Given the description of an element on the screen output the (x, y) to click on. 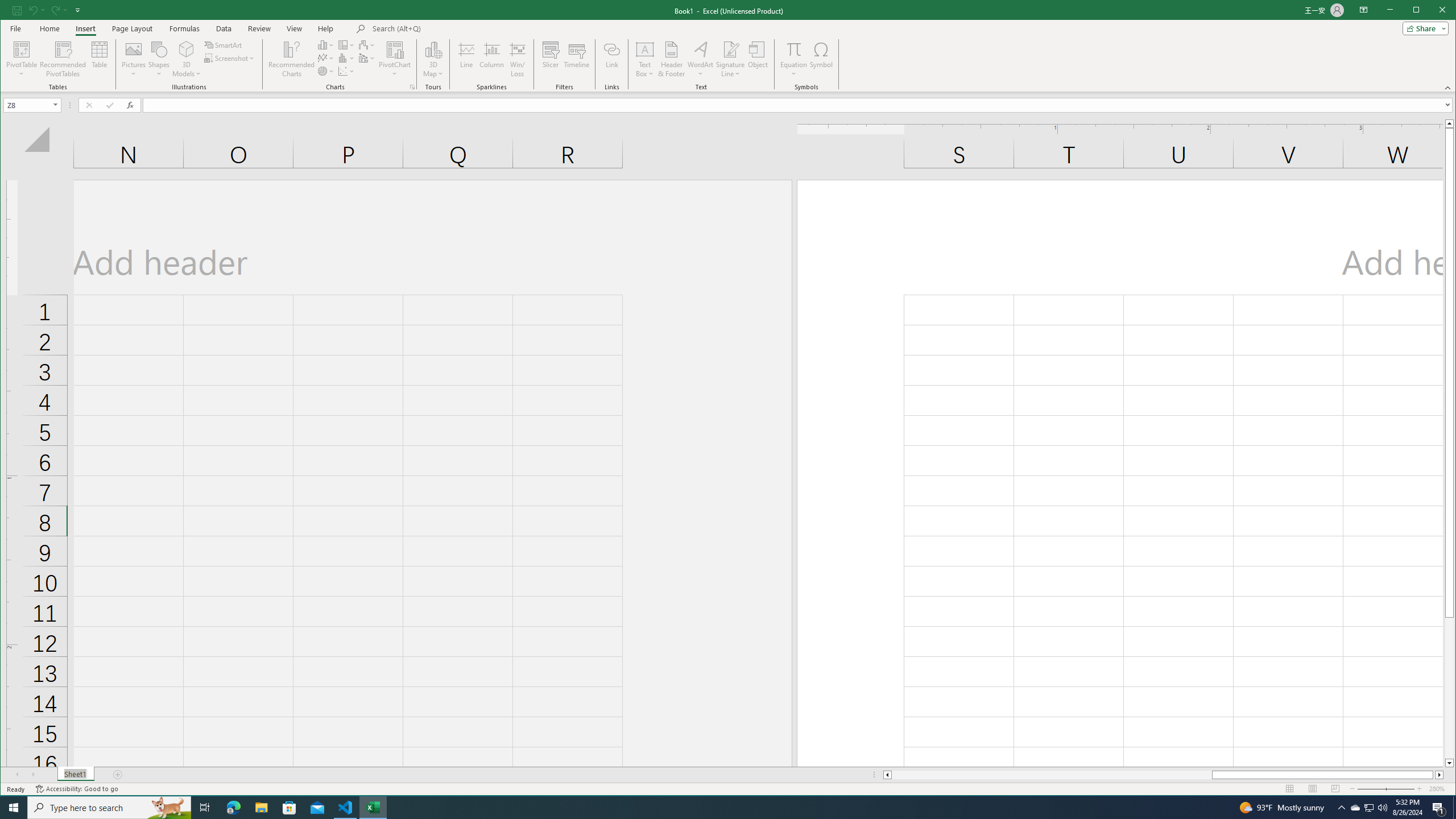
3D Models (186, 48)
Recommended Charts (411, 86)
Column (492, 59)
Object... (757, 59)
Slicer... (550, 59)
Notification Chevron (1341, 807)
Header & Footer... (670, 59)
Insert Column or Bar Chart (325, 44)
Insert Hierarchy Chart (346, 44)
